Given the description of an element on the screen output the (x, y) to click on. 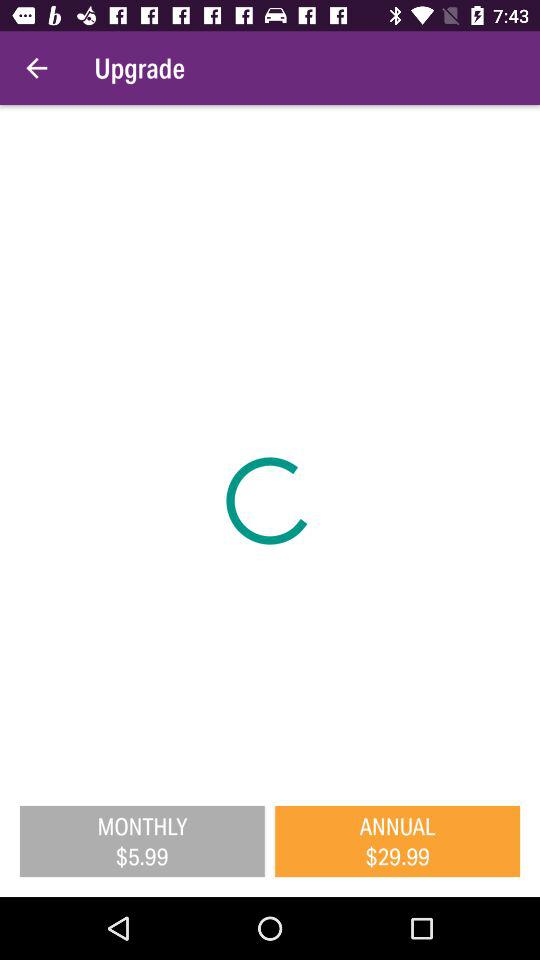
launch item at the bottom right corner (397, 841)
